Given the description of an element on the screen output the (x, y) to click on. 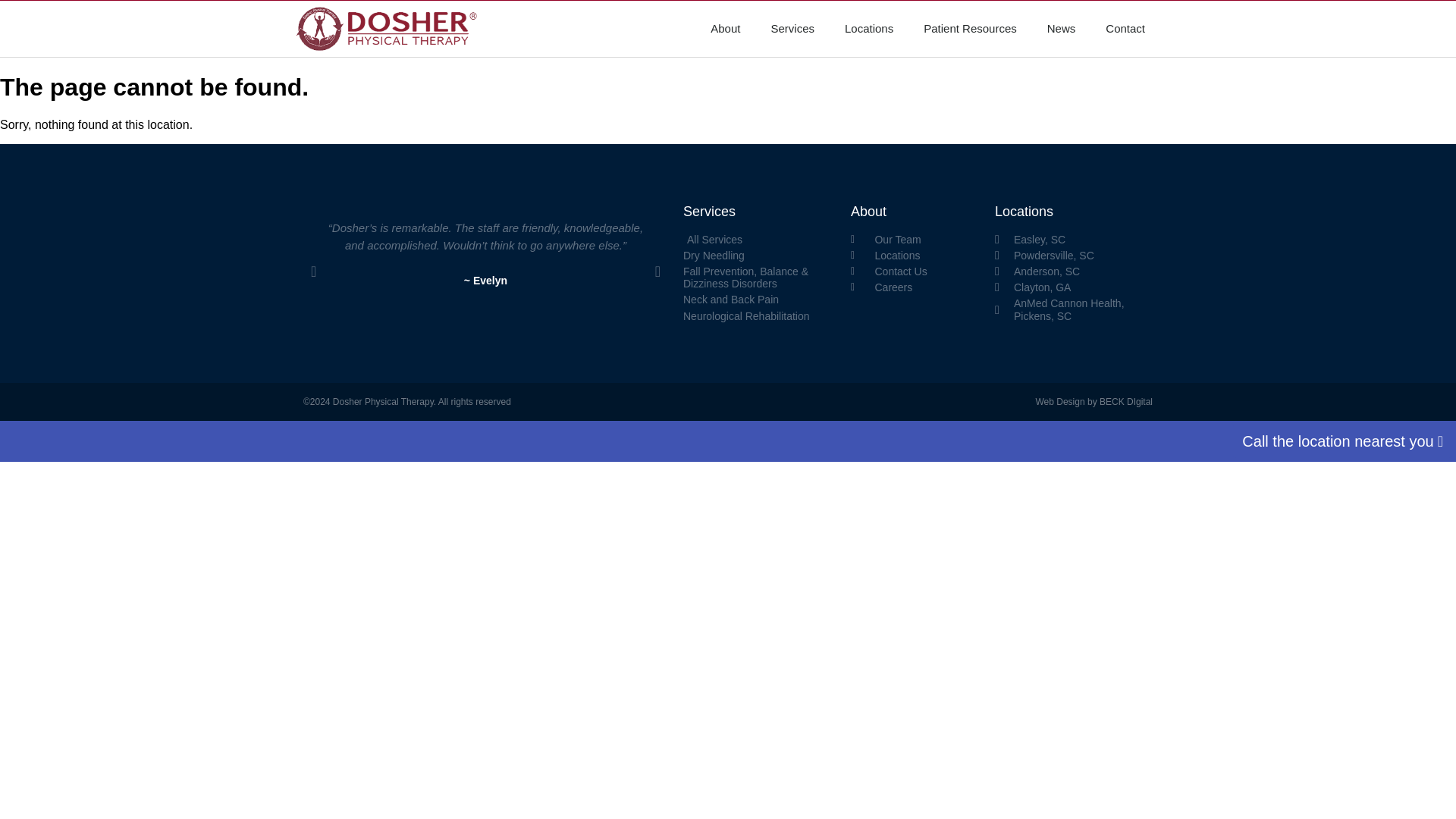
Services (792, 28)
News (1061, 28)
All Services (758, 239)
Contact (1125, 28)
Patient Resources (970, 28)
Locations (868, 28)
Dry Needling (758, 255)
About (725, 28)
Neurological Rehabilitation (758, 316)
Neck and Back Pain (758, 299)
